Given the description of an element on the screen output the (x, y) to click on. 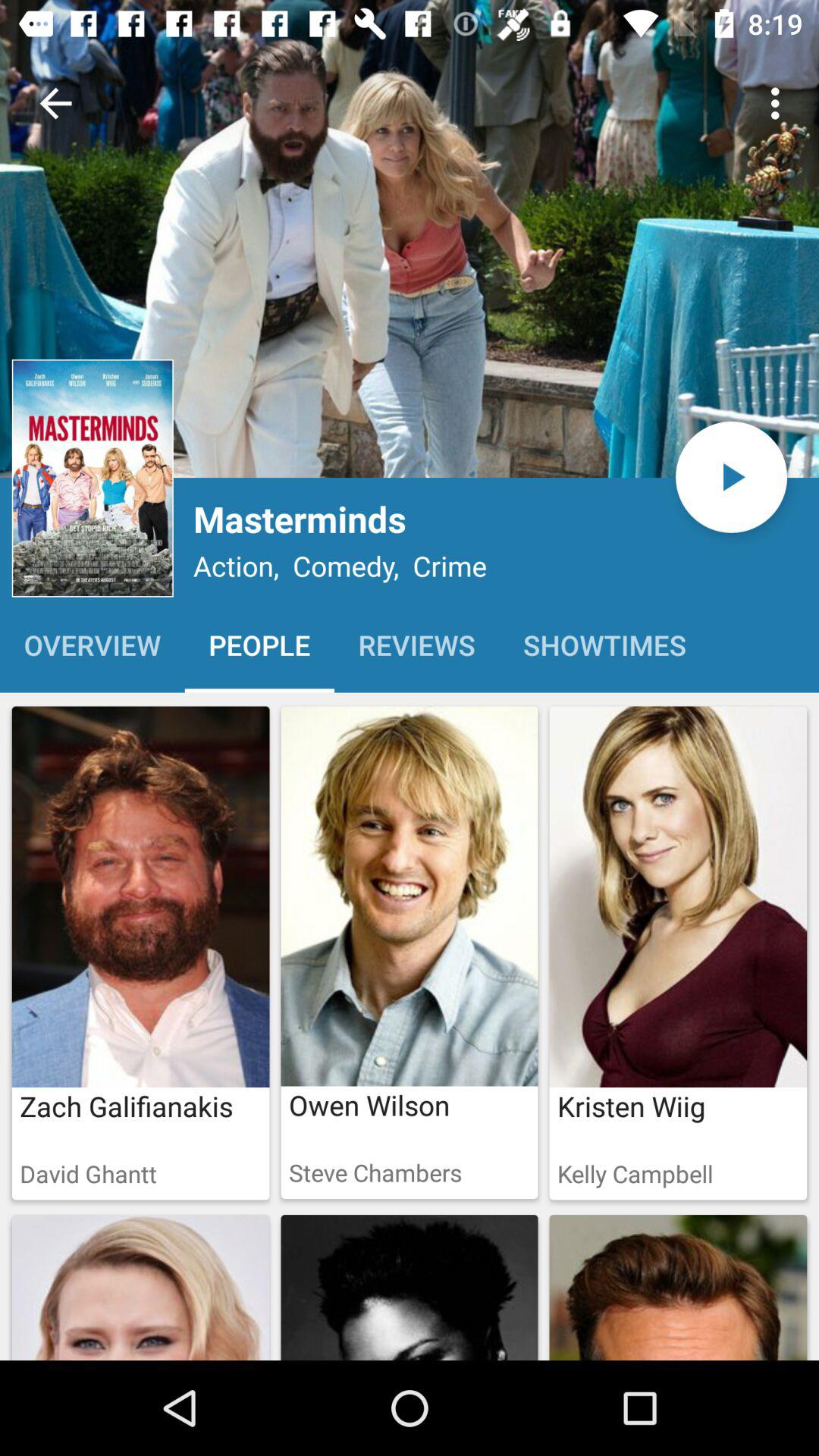
play (731, 476)
